Given the description of an element on the screen output the (x, y) to click on. 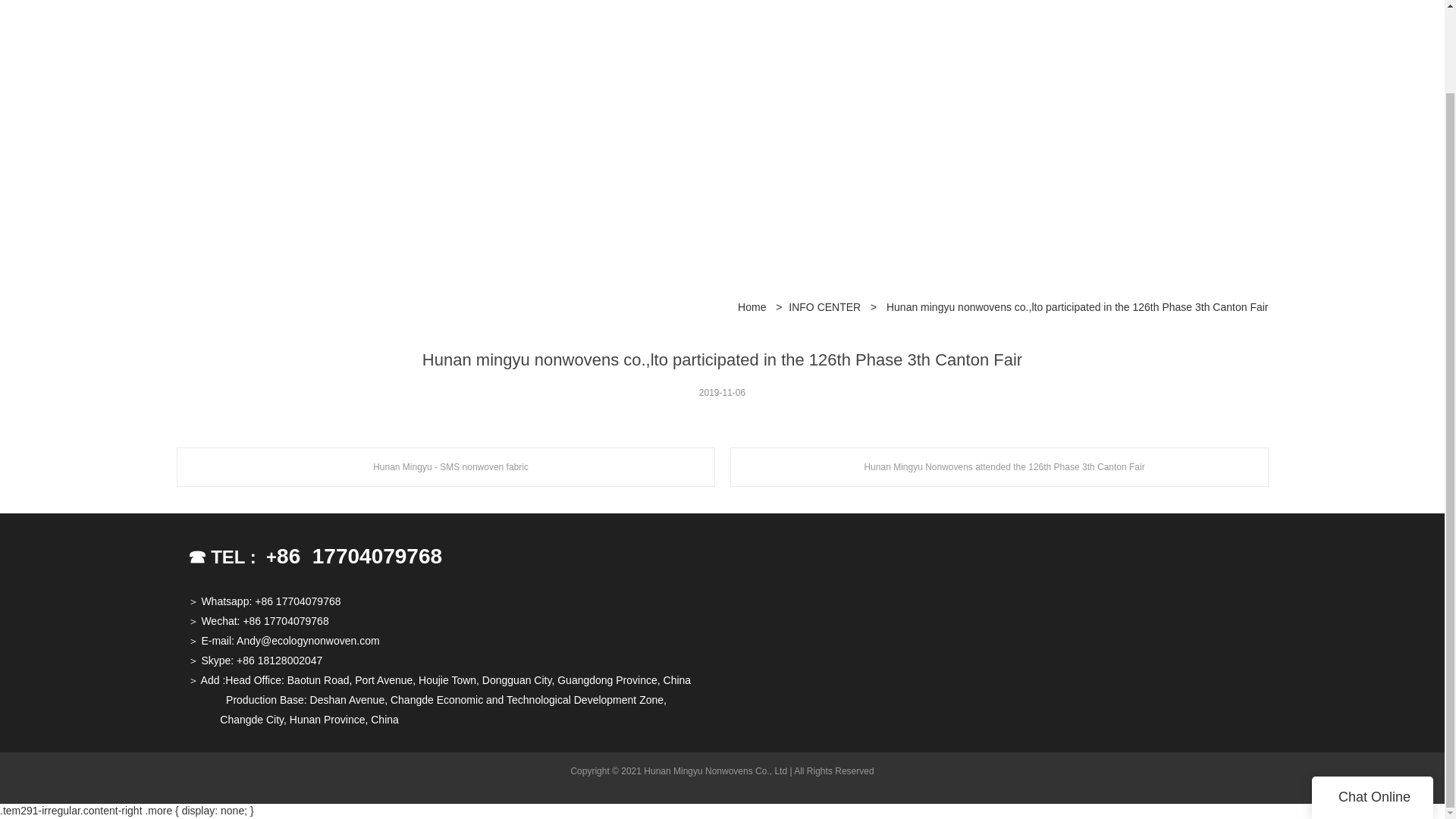
Home (751, 309)
Hunan Mingyu - SMS nonwoven fabric (445, 466)
INFO CENTER (824, 309)
Hunan Mingyu - SMS nonwoven fabric (445, 466)
